Given the description of an element on the screen output the (x, y) to click on. 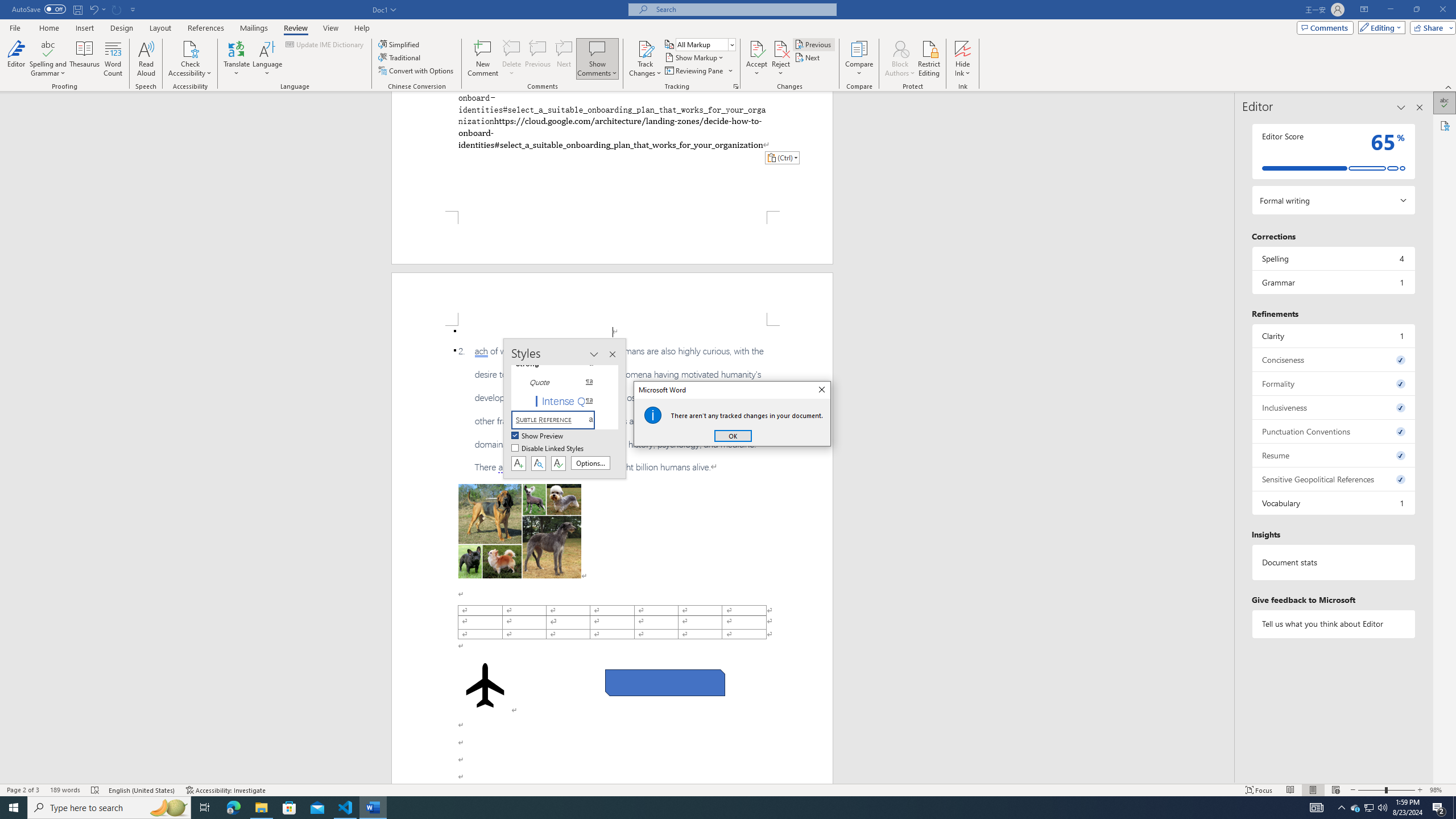
Editor Score 65% (1333, 151)
Traditional (400, 56)
Track Changes (644, 48)
Show Comments (597, 58)
Restrict Editing (929, 58)
Action: Paste alternatives (781, 157)
Intense Quote (559, 400)
Footer -Section 1- (611, 237)
Display for Review (705, 44)
Document statistics (1333, 561)
